Given the description of an element on the screen output the (x, y) to click on. 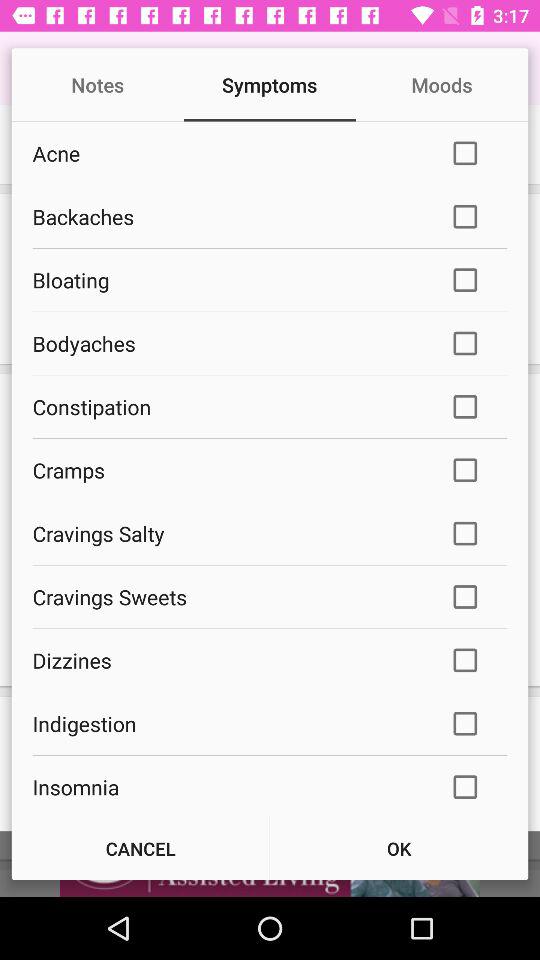
turn on insomnia (227, 786)
